Given the description of an element on the screen output the (x, y) to click on. 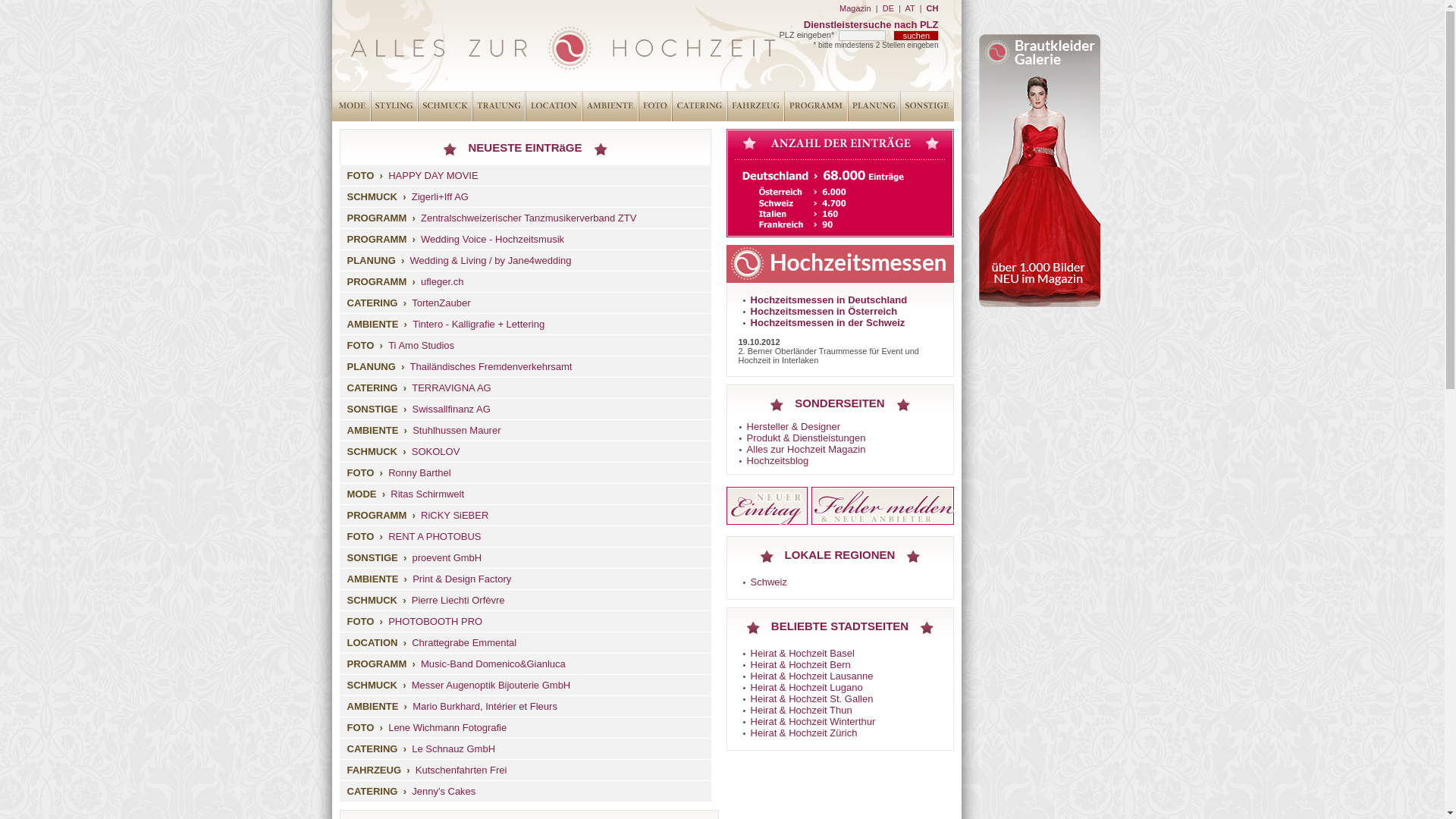
Zigerli+Iff AG Element type: text (439, 196)
Chrattegrabe Emmental Element type: text (463, 642)
PHOTOBOOTH PRO Element type: text (435, 621)
DE Element type: text (888, 7)
Schweiz Element type: text (768, 581)
Hochzeitsblog Element type: text (777, 460)
Produkt & Dienstleistungen Element type: text (806, 437)
Heirat & Hochzeit Winterthur Element type: text (812, 721)
Messer Augenoptik Bijouterie GmbH Element type: text (491, 684)
Stuhlhussen Maurer Element type: text (456, 430)
Heirat & Hochzeit Bern Element type: text (800, 664)
TortenZauber Element type: text (440, 302)
Hochzeitsmessen in der Schweiz Element type: text (827, 322)
TERRAVIGNA AG Element type: text (451, 387)
Alles zur Hochzeit Magazin Element type: text (806, 449)
Heirat & Hochzeit Lugano Element type: text (806, 687)
Kutschenfahrten Frei Element type: text (461, 769)
Print & Design Factory Element type: text (461, 578)
Heirat & Hochzeit Basel Element type: text (802, 652)
HAPPY DAY MOVIE Element type: text (433, 175)
AT Element type: text (909, 7)
Ritas Schirmwelt Element type: text (427, 493)
proevent GmbH Element type: text (446, 557)
Wedding & Living / by Jane4wedding Element type: text (490, 260)
Jenny's Cakes Element type: text (443, 791)
Hersteller & Designer Element type: text (793, 426)
Lene Wichmann Fotografie Element type: text (447, 727)
Ti Amo Studios Element type: text (421, 345)
SOKOLOV Element type: text (435, 451)
Le Schnauz GmbH Element type: text (453, 748)
Swissallfinanz AG Element type: text (450, 408)
Zentralschweizerischer Tanzmusikerverband ZTV Element type: text (528, 217)
RENT A PHOTOBUS Element type: text (434, 536)
Ronny Barthel Element type: text (419, 472)
Heirat & Hochzeit St. Gallen Element type: text (811, 698)
Hochzeitsmessen in Deutschland Element type: text (828, 299)
Wedding Voice - Hochzeitsmusik Element type: text (492, 238)
suchen Element type: text (915, 35)
Heirat & Hochzeit Thun Element type: text (801, 709)
Tintero - Kalligrafie + Lettering Element type: text (478, 323)
Heirat & Hochzeit Lausanne Element type: text (811, 675)
ufleger.ch Element type: text (441, 281)
Magazin Element type: text (855, 7)
RiCKY SiEBER Element type: text (454, 514)
Music-Band Domenico&Gianluca Element type: text (492, 663)
